Given the description of an element on the screen output the (x, y) to click on. 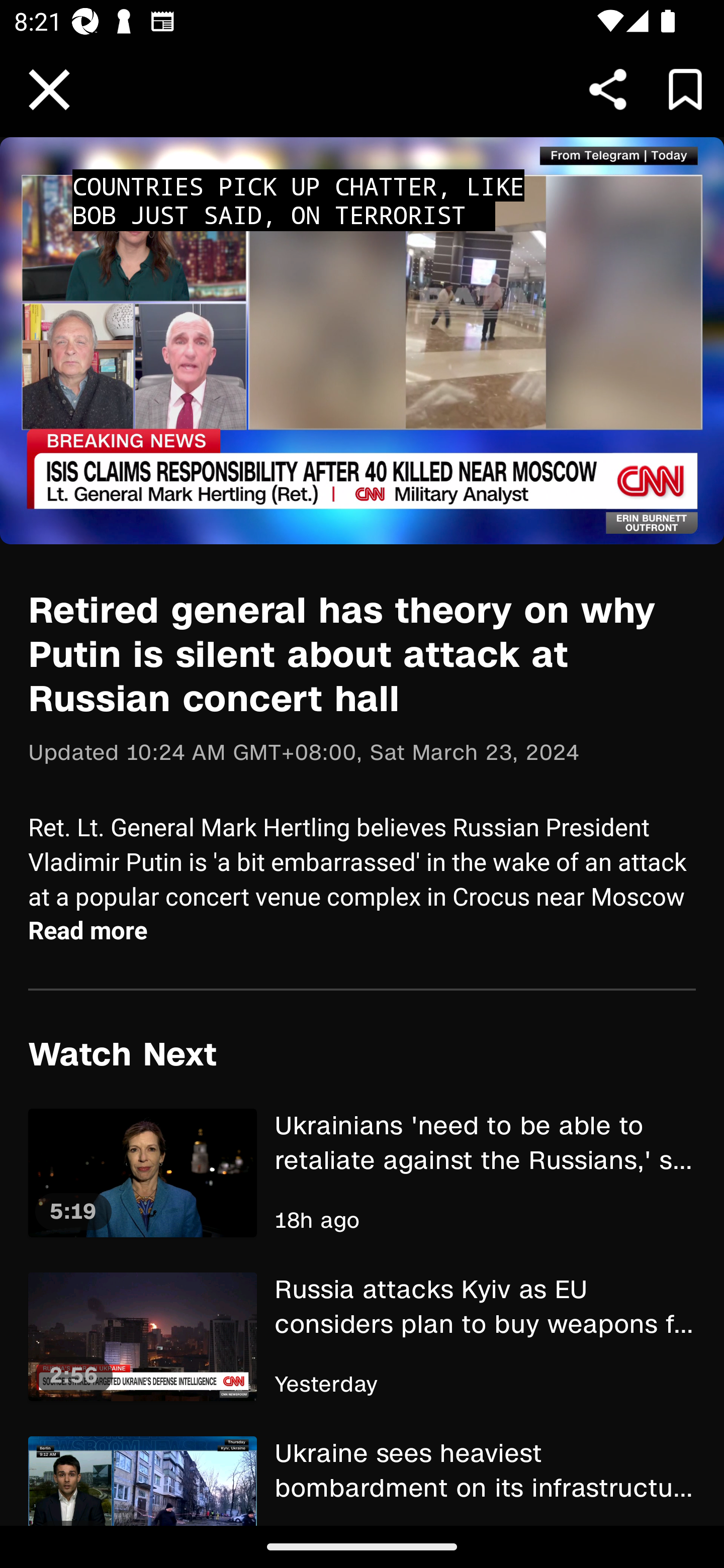
Close (48, 89)
Share (607, 89)
Bookmark (685, 89)
